Given the description of an element on the screen output the (x, y) to click on. 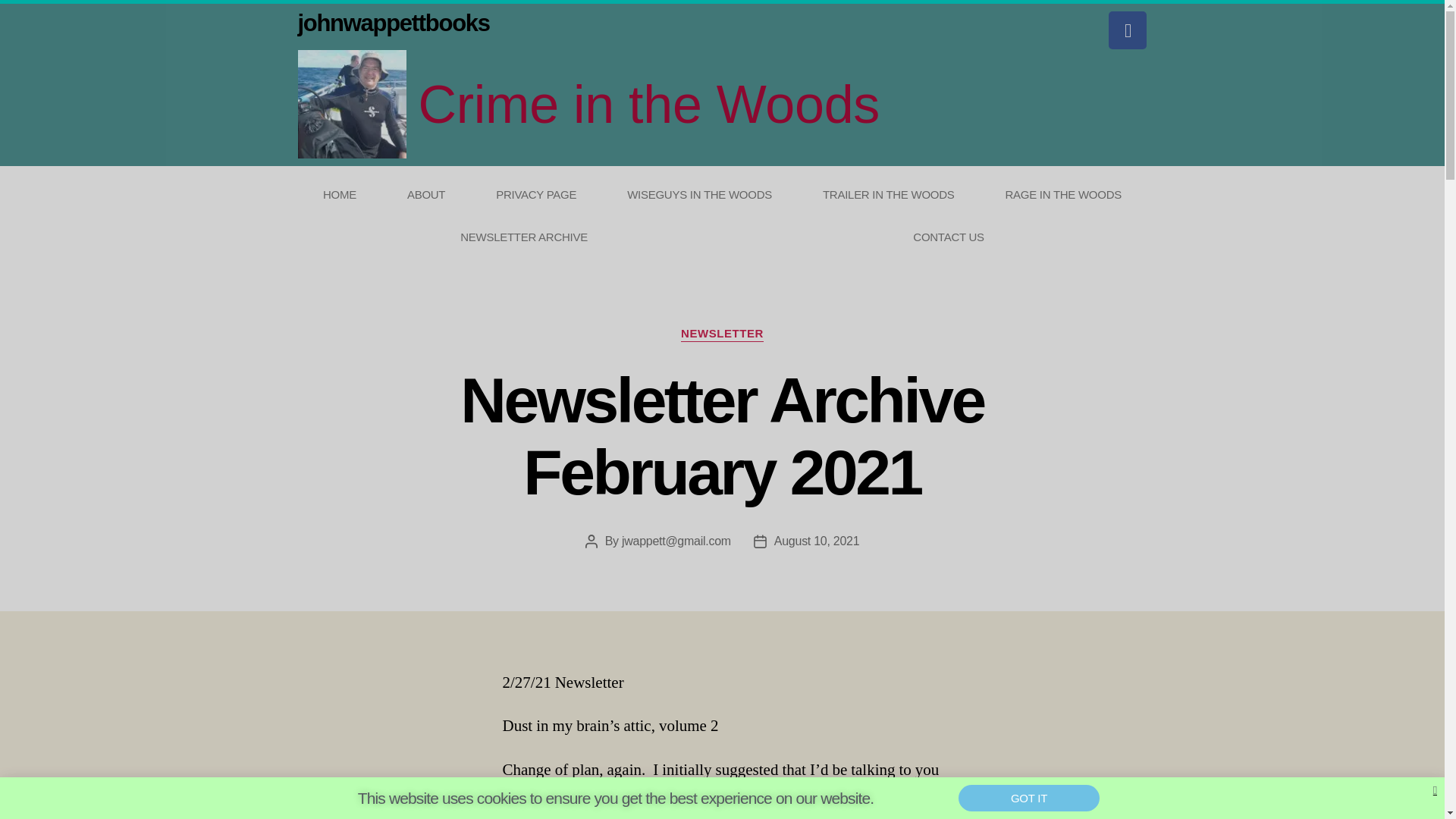
PRIVACY PAGE (536, 194)
TRAILER IN THE WOODS (887, 194)
CONTACT US (949, 237)
August 10, 2021 (817, 540)
GOT IT (1028, 797)
NEWSLETTER ARCHIVE (523, 237)
HOME (339, 194)
NEWSLETTER (721, 334)
ABOUT (425, 194)
RAGE IN THE WOODS (1063, 194)
johnwappettbooks (393, 22)
WISEGUYS IN THE WOODS (699, 194)
